Given the description of an element on the screen output the (x, y) to click on. 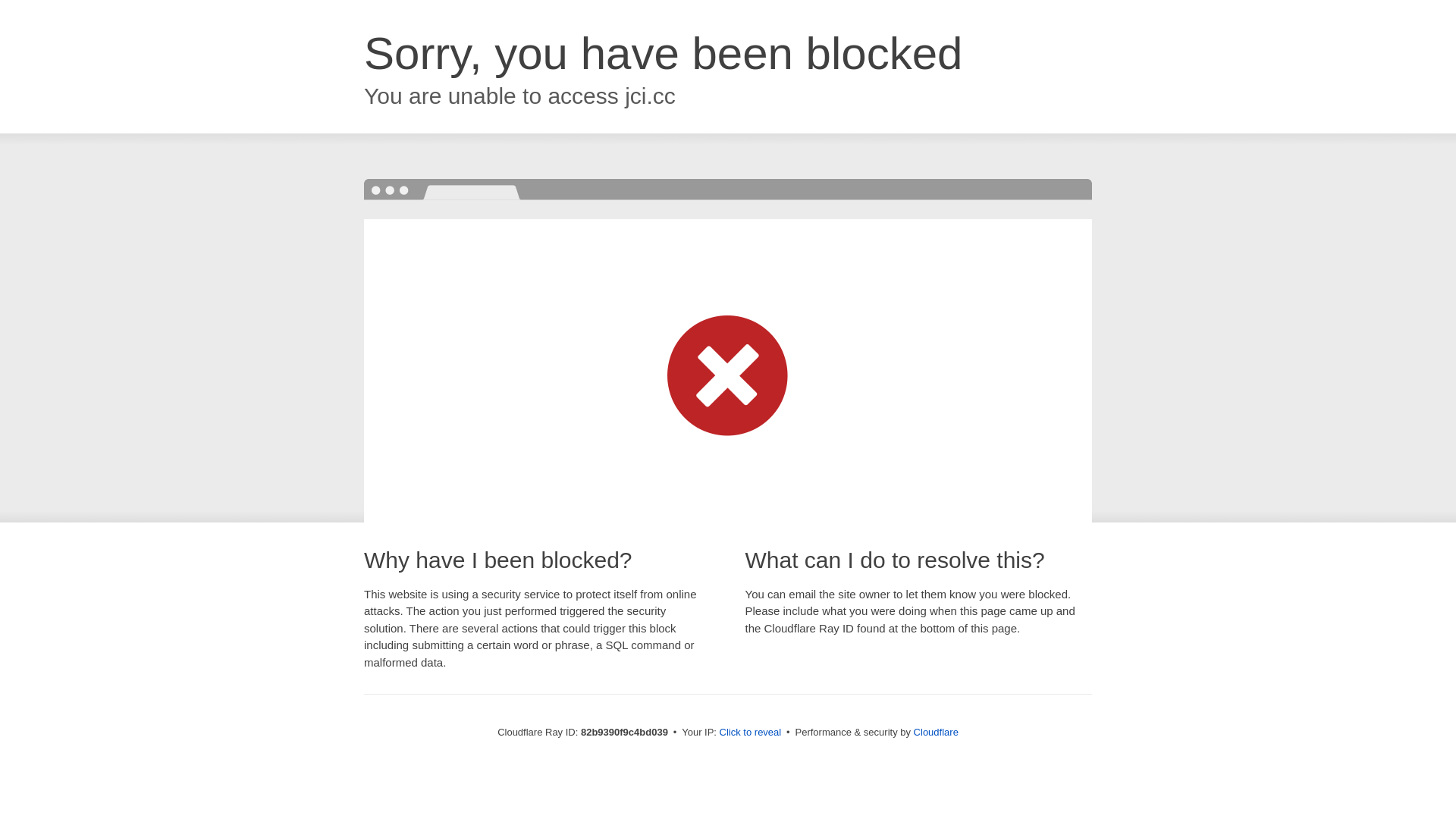
Cloudflare Element type: text (935, 731)
Click to reveal Element type: text (750, 732)
